Given the description of an element on the screen output the (x, y) to click on. 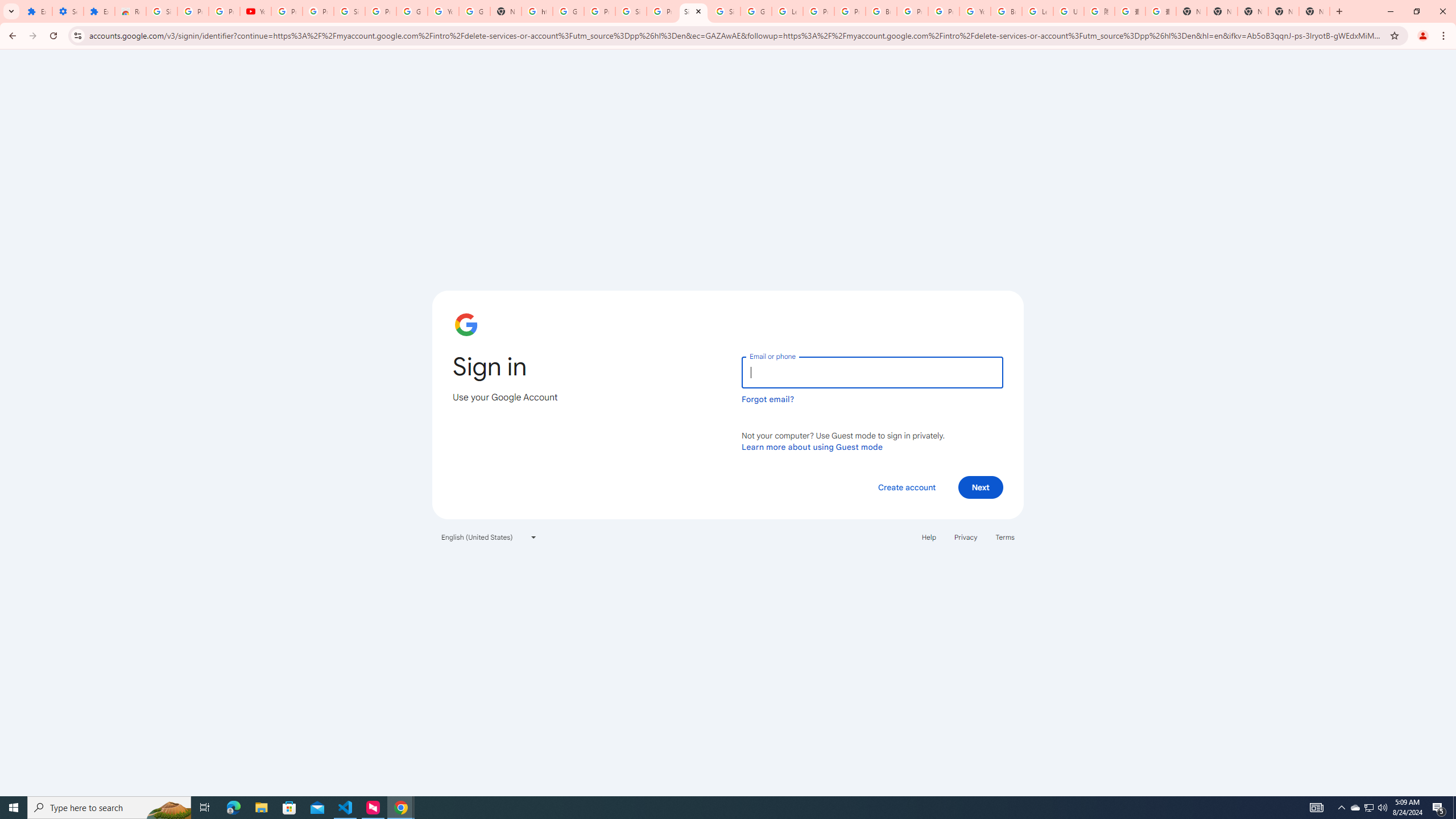
Sign in - Google Accounts (349, 11)
